Given the description of an element on the screen output the (x, y) to click on. 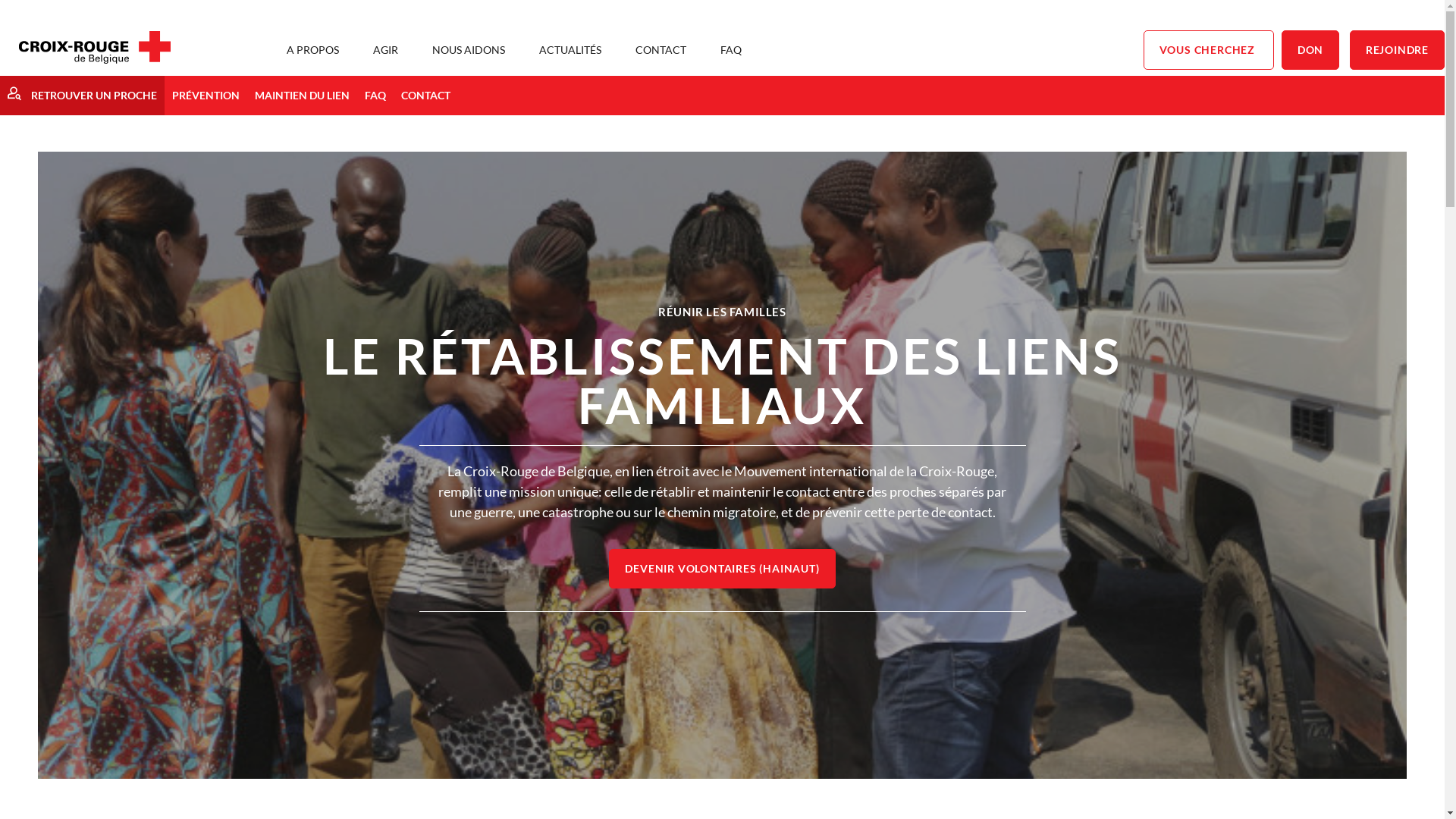
VOUS CHERCHEZ Element type: text (1208, 49)
DEVENIR VOLONTAIRES (HAINAUT) Element type: text (721, 568)
MAINTIEN DU LIEN Element type: text (302, 95)
DON Element type: text (1310, 49)
A PROPOS Element type: text (312, 49)
FAQ Element type: text (375, 95)
AGIR Element type: text (385, 49)
RETROUVER UN PROCHE Element type: text (82, 95)
FAQ Element type: text (730, 49)
REJOINDRE Element type: text (1396, 49)
CONTACT Element type: text (425, 95)
NOUS AIDONS Element type: text (468, 49)
CONTACT Element type: text (660, 49)
